Given the description of an element on the screen output the (x, y) to click on. 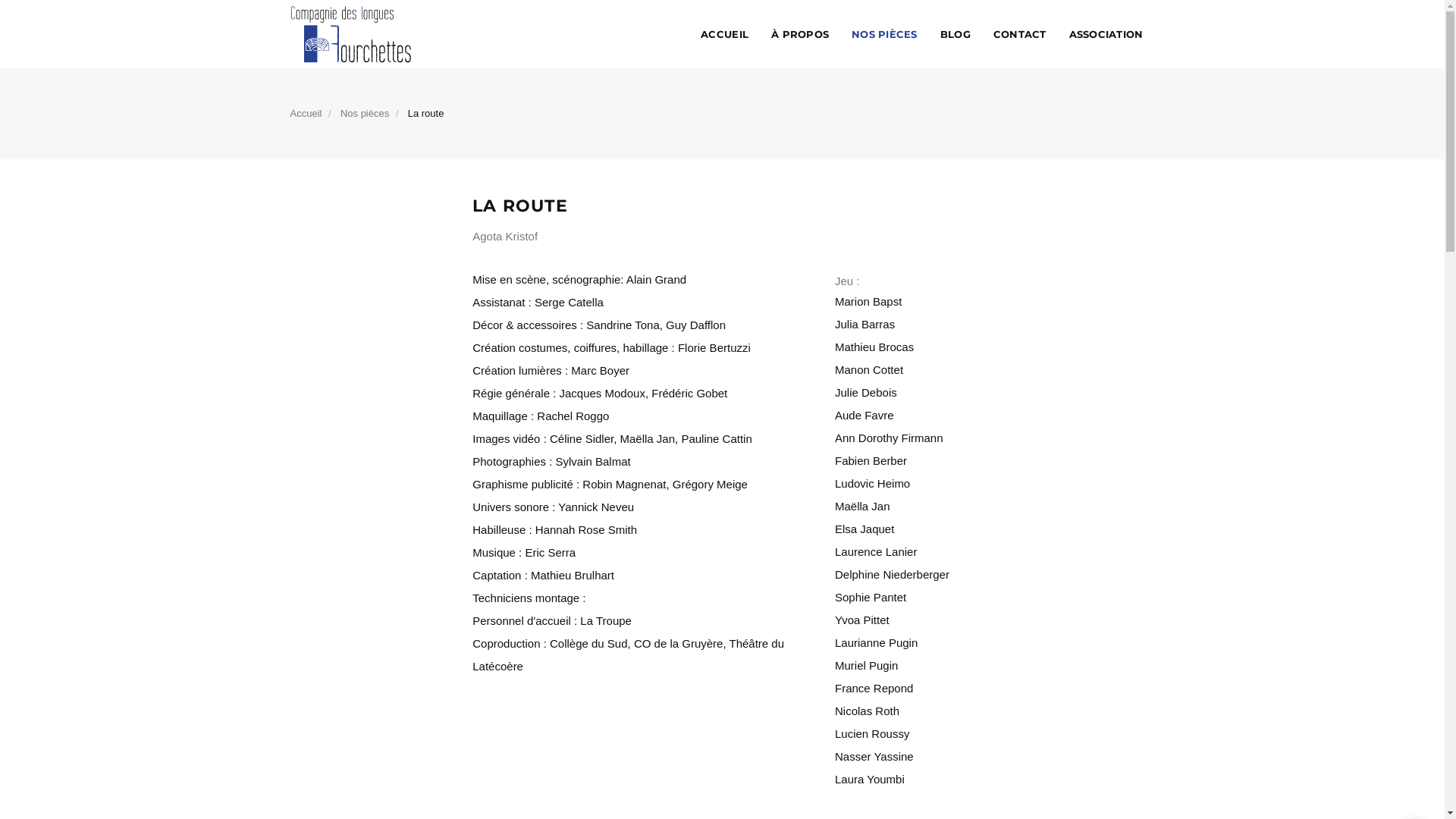
Accueil Element type: text (305, 113)
CONTACT Element type: text (1019, 34)
BLOG Element type: text (955, 34)
ASSOCIATION Element type: text (1105, 34)
ACCUEIL Element type: text (724, 34)
